Given the description of an element on the screen output the (x, y) to click on. 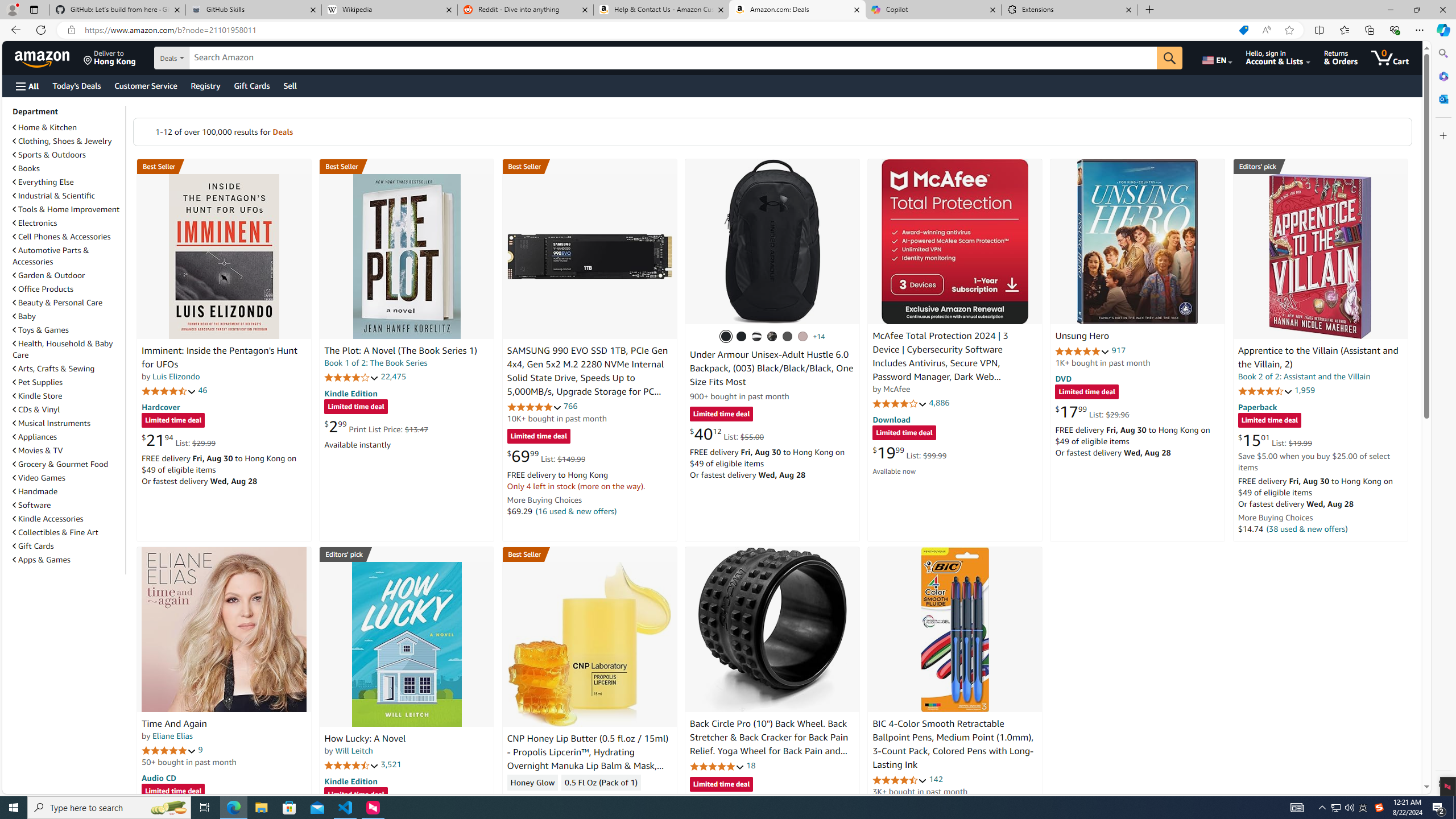
4.8 out of 5 stars (716, 766)
Electronics (34, 222)
4.2 out of 5 stars (352, 377)
Industrial & Scientific (67, 195)
Limited time deal (721, 784)
Grocery & Gourmet Food (67, 464)
$19.99 List: $99.99 (909, 452)
4.9 out of 5 stars (1082, 351)
Baby (67, 315)
Musical Instruments (67, 423)
Video Games (39, 477)
